Given the description of an element on the screen output the (x, y) to click on. 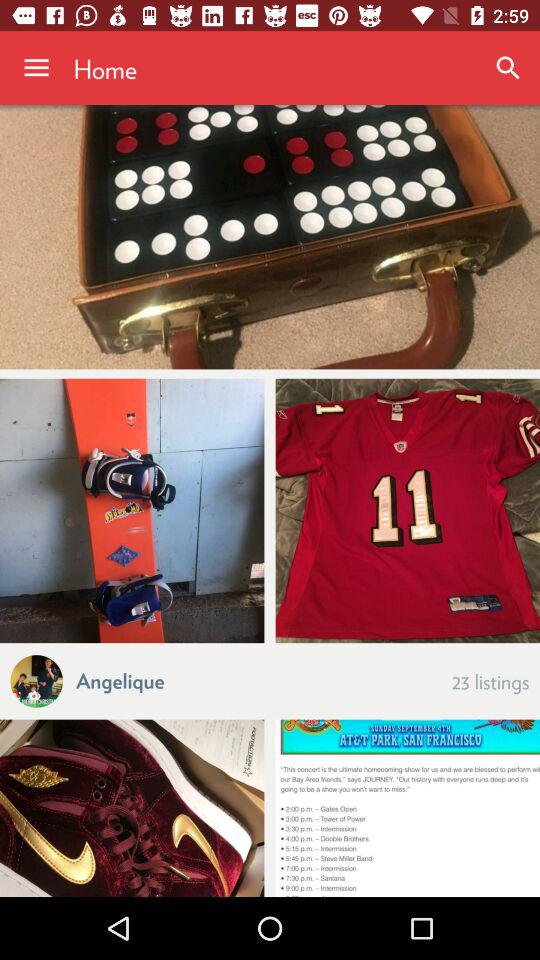
tap item next to the home item (36, 68)
